Given the description of an element on the screen output the (x, y) to click on. 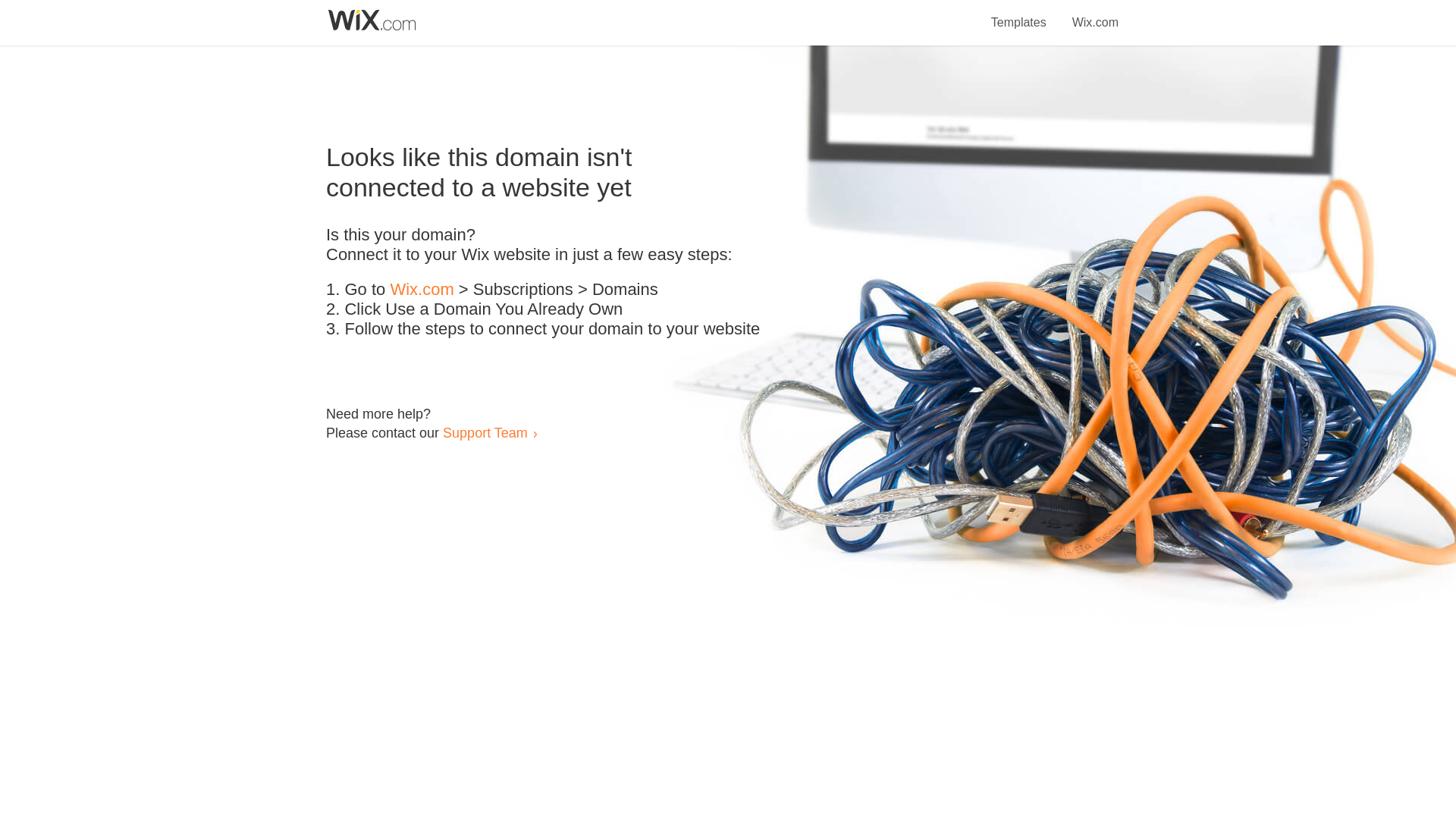
Wix.com (421, 289)
Wix.com (1095, 14)
Templates (1018, 14)
Support Team (484, 432)
